Given the description of an element on the screen output the (x, y) to click on. 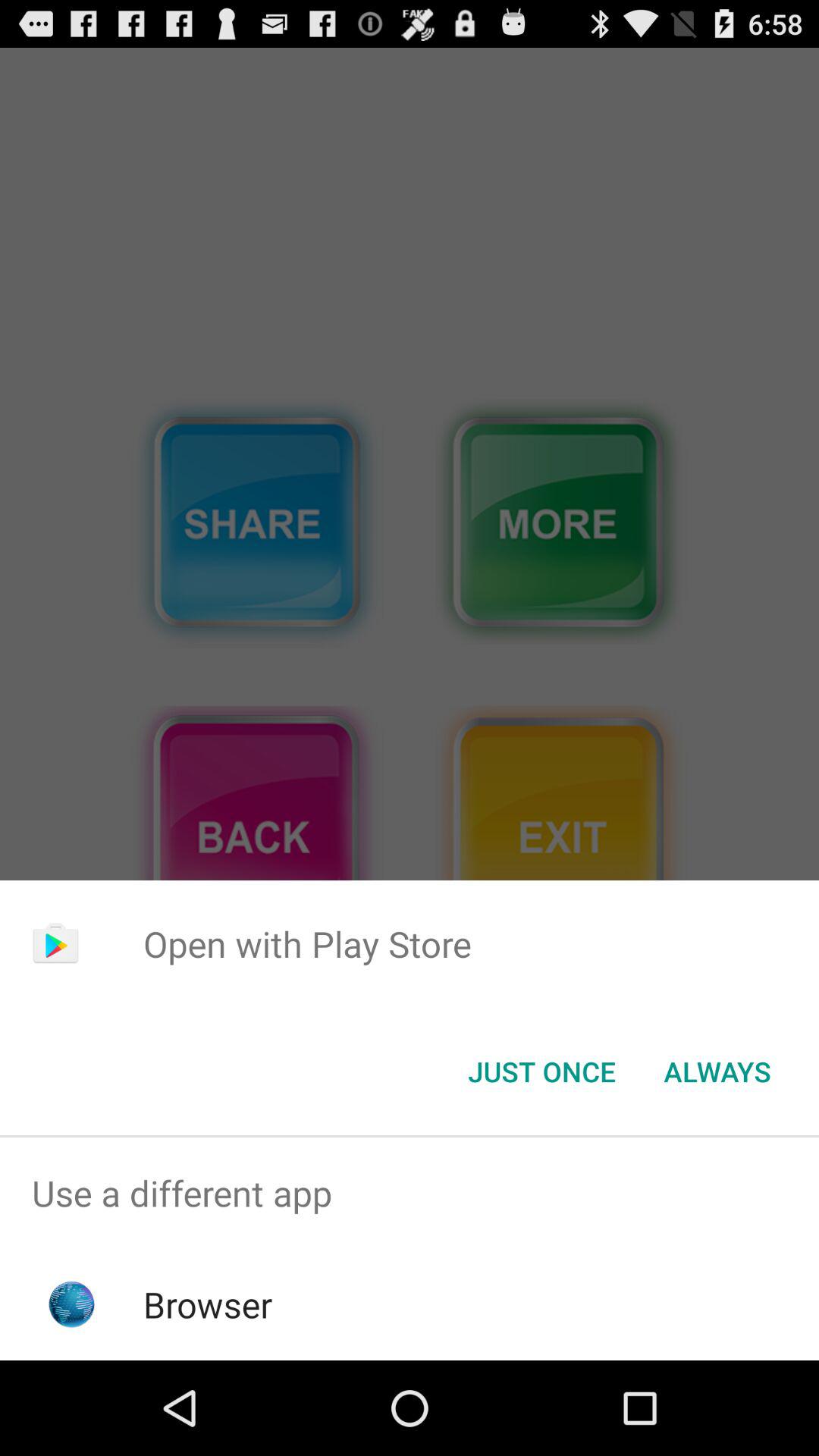
launch the icon above browser app (409, 1192)
